Given the description of an element on the screen output the (x, y) to click on. 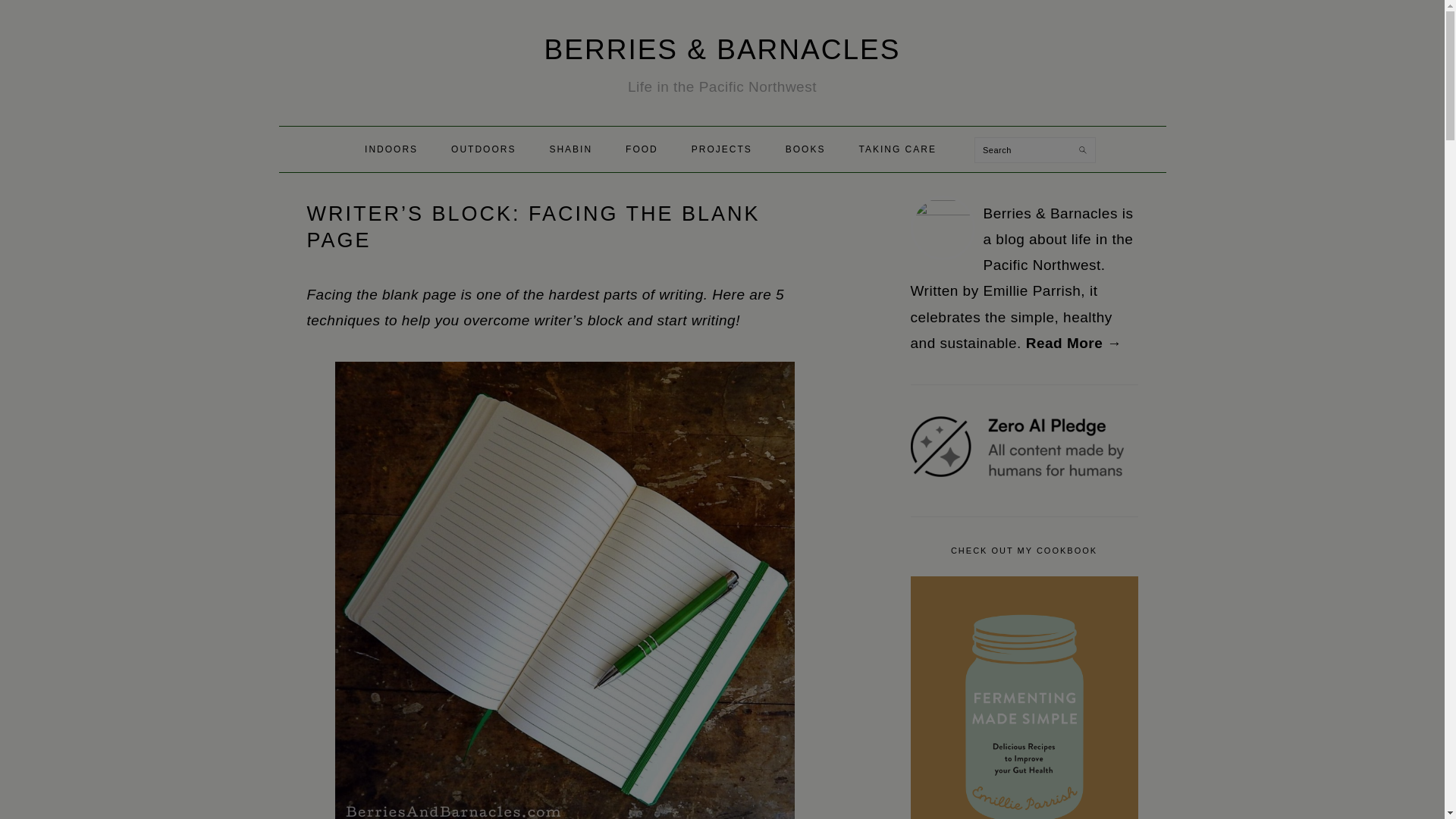
OUTDOORS (483, 149)
FOOD (642, 149)
SHABIN (570, 149)
BOOKS (805, 149)
TAKING CARE (897, 149)
INDOORS (391, 149)
PROJECTS (721, 149)
